Given the description of an element on the screen output the (x, y) to click on. 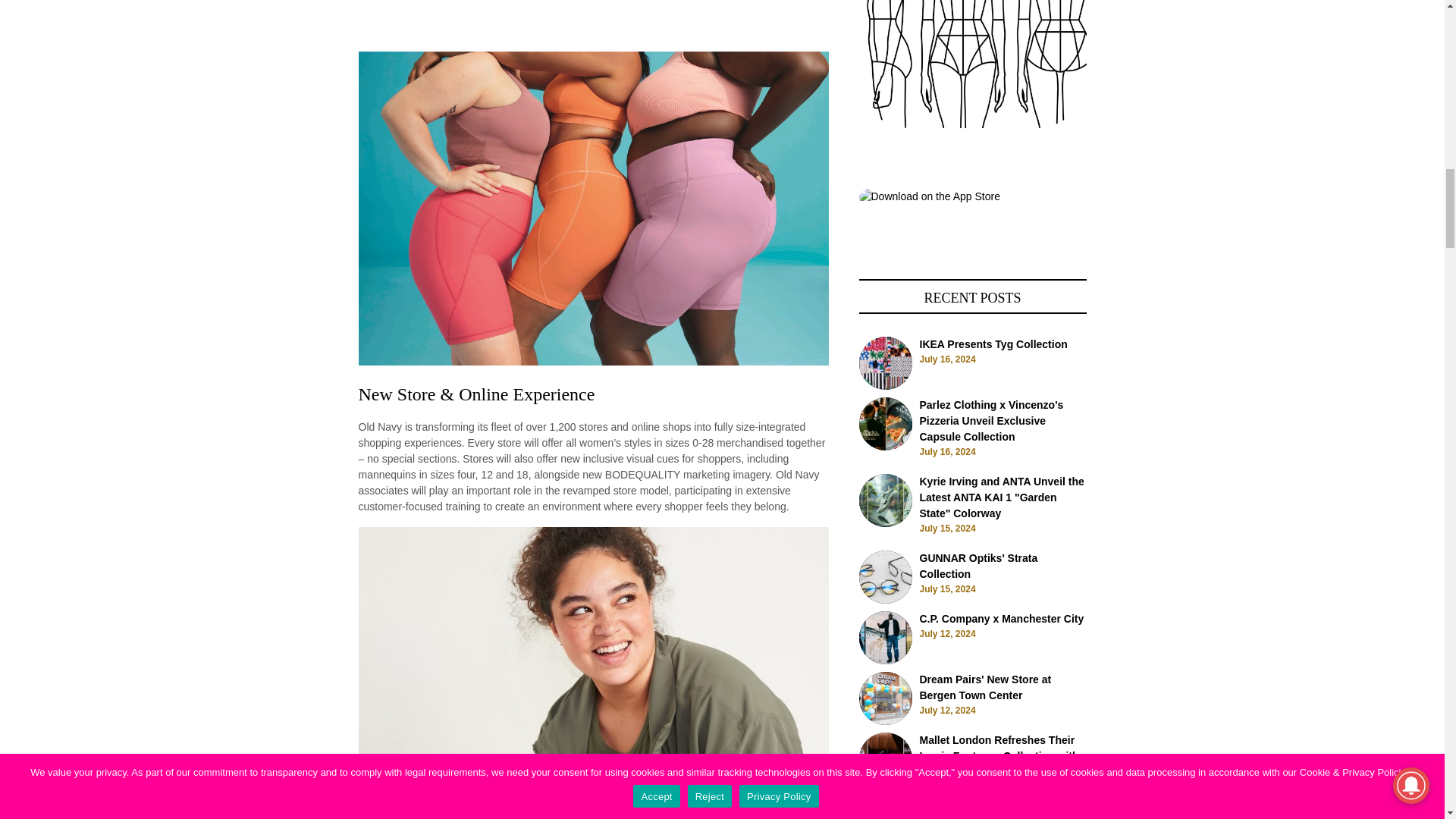
Advertisement (593, 3)
